Given the description of an element on the screen output the (x, y) to click on. 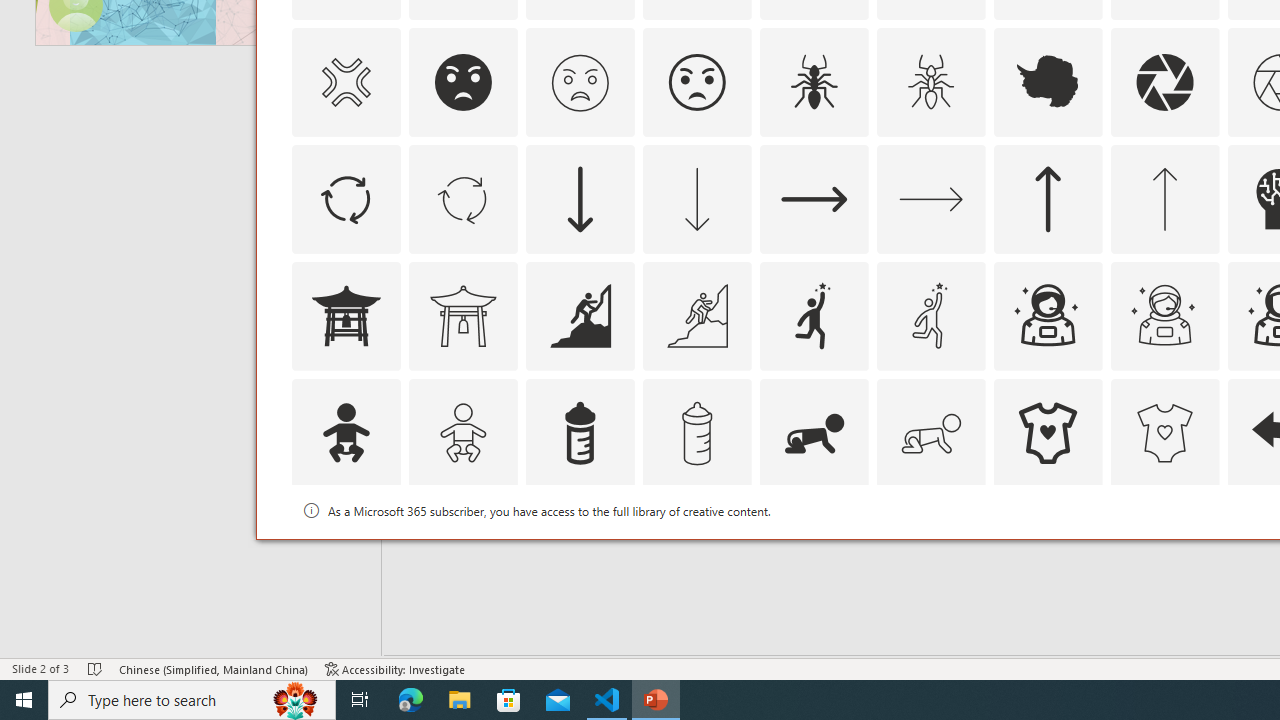
AutomationID: Icons_ArrowRight_M (930, 198)
AutomationID: Icons_Badge5 (1164, 550)
AutomationID: Icons_BabyCrawling_M (930, 432)
AutomationID: Icons_Baby_M (463, 432)
AutomationID: Icons_ArrowCircle_M (463, 198)
Microsoft Edge (411, 699)
